Given the description of an element on the screen output the (x, y) to click on. 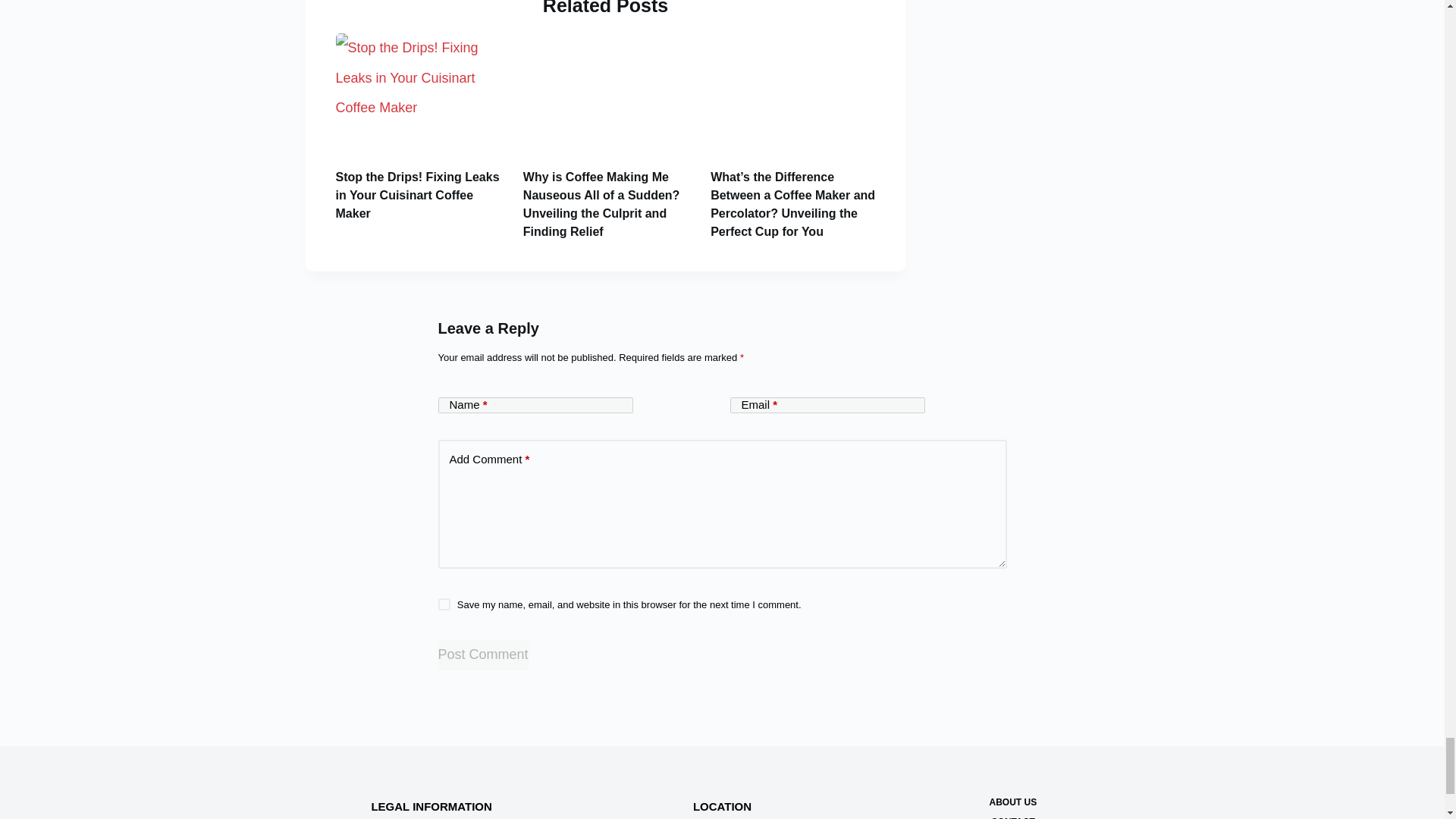
yes (443, 604)
